Given the description of an element on the screen output the (x, y) to click on. 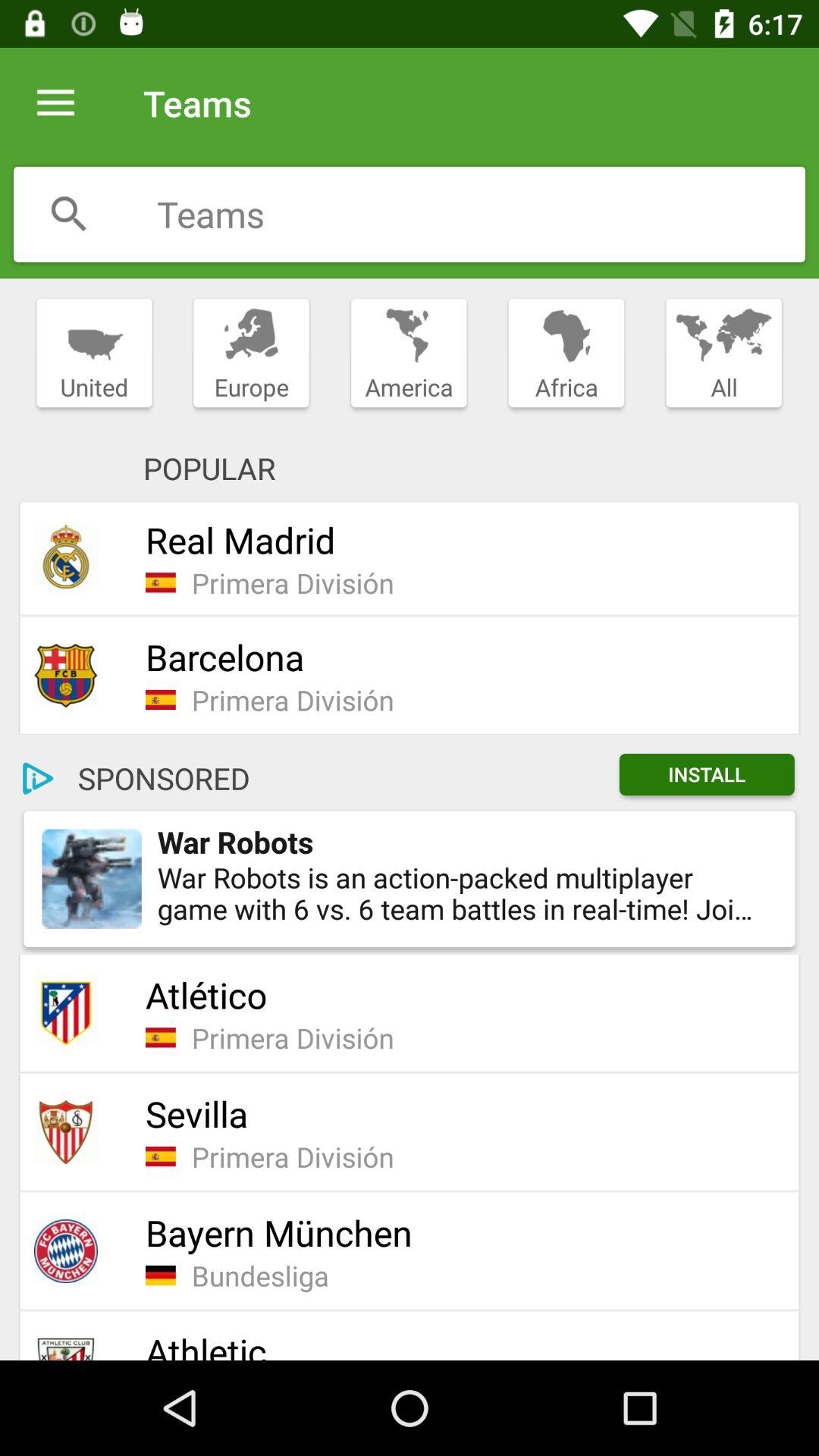
press icon to the left of war robots item (91, 878)
